Given the description of an element on the screen output the (x, y) to click on. 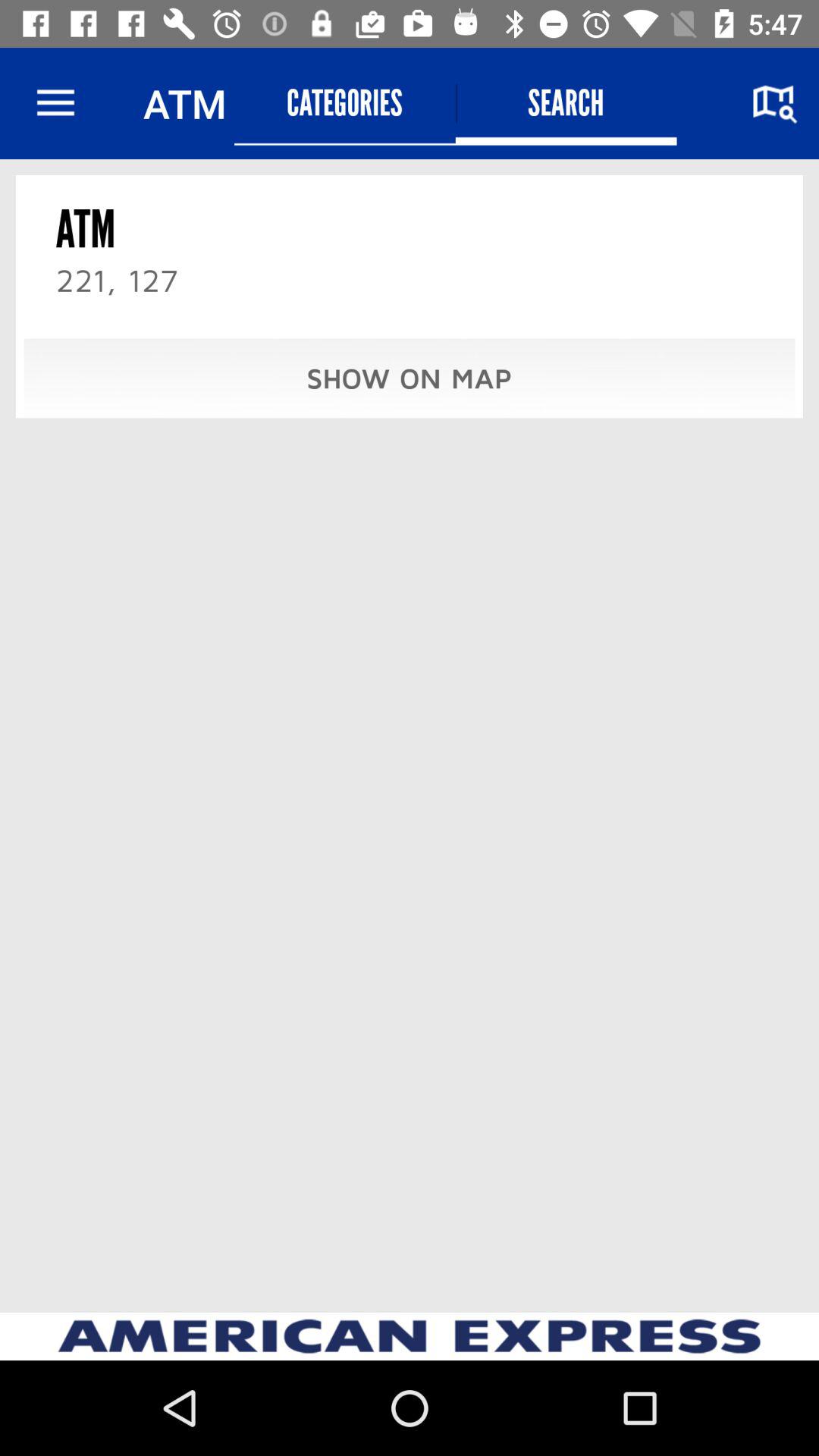
jump to the search item (565, 103)
